Given the description of an element on the screen output the (x, y) to click on. 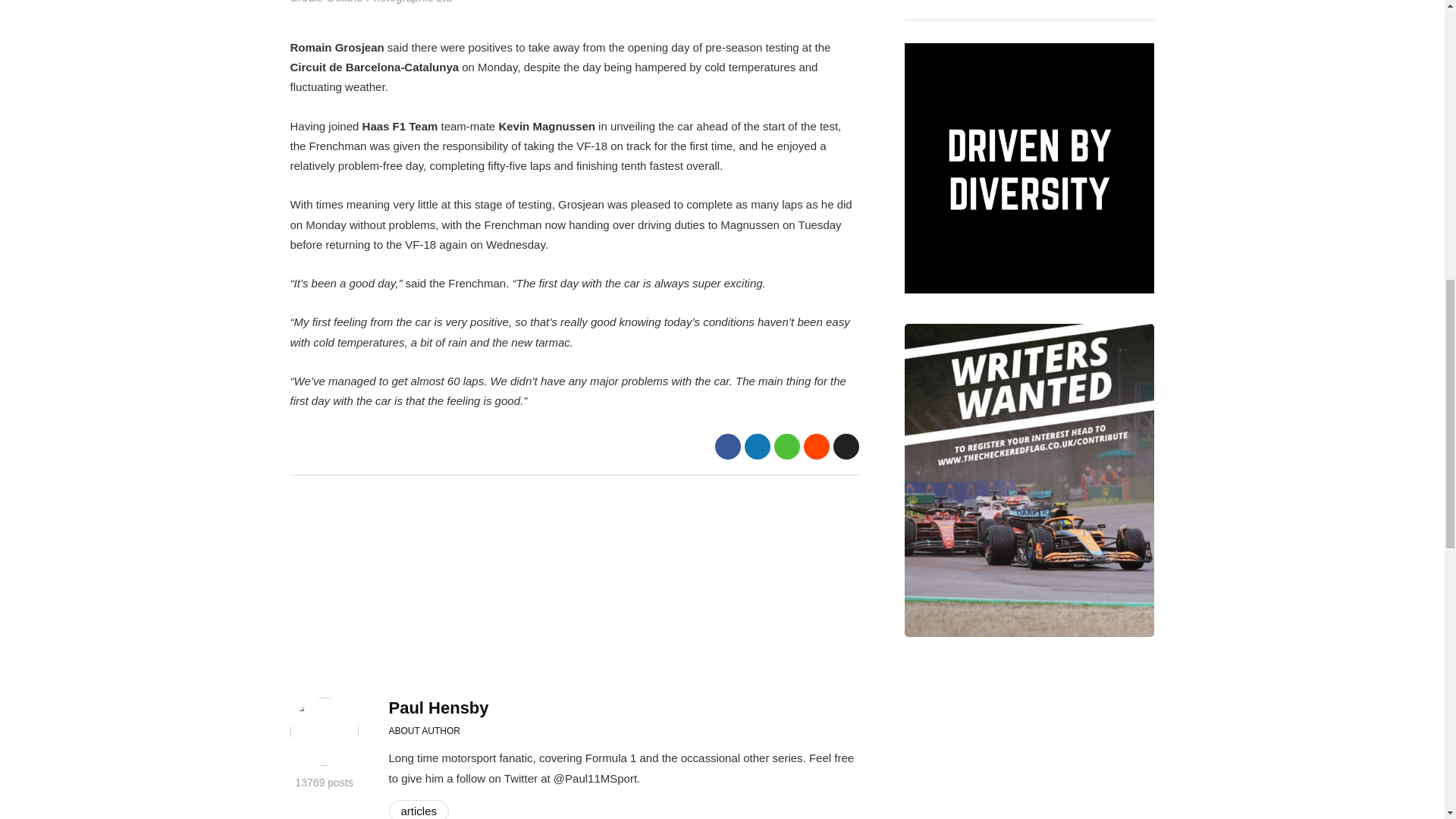
Share on Reddit (816, 446)
Share with Facebook (726, 446)
Share by Email (845, 446)
Posts by Paul Hensby (437, 707)
Share to WhatsApp (786, 446)
Support Driven by Diversity (1029, 168)
Share with LinkedIn (757, 446)
